Given the description of an element on the screen output the (x, y) to click on. 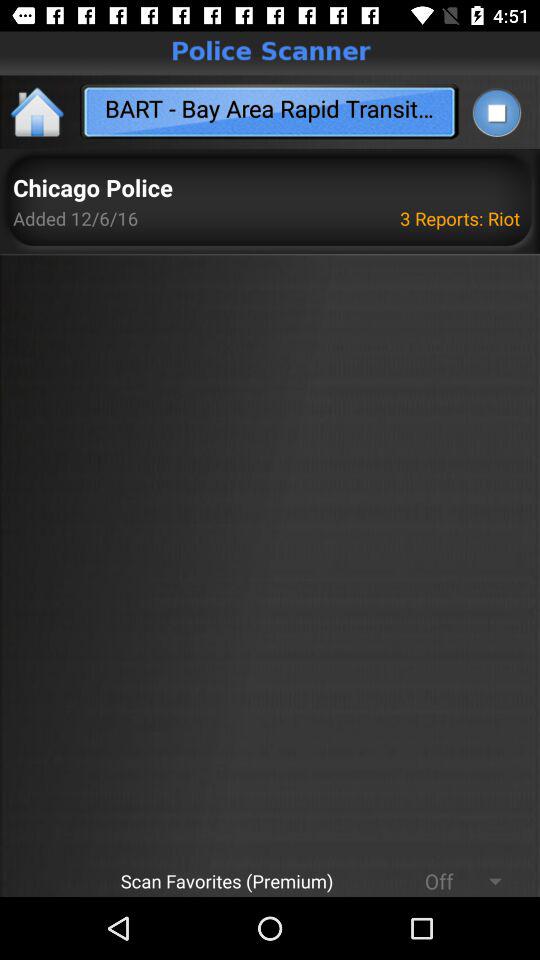
turn on the item to the right of bart bay area item (496, 111)
